Given the description of an element on the screen output the (x, y) to click on. 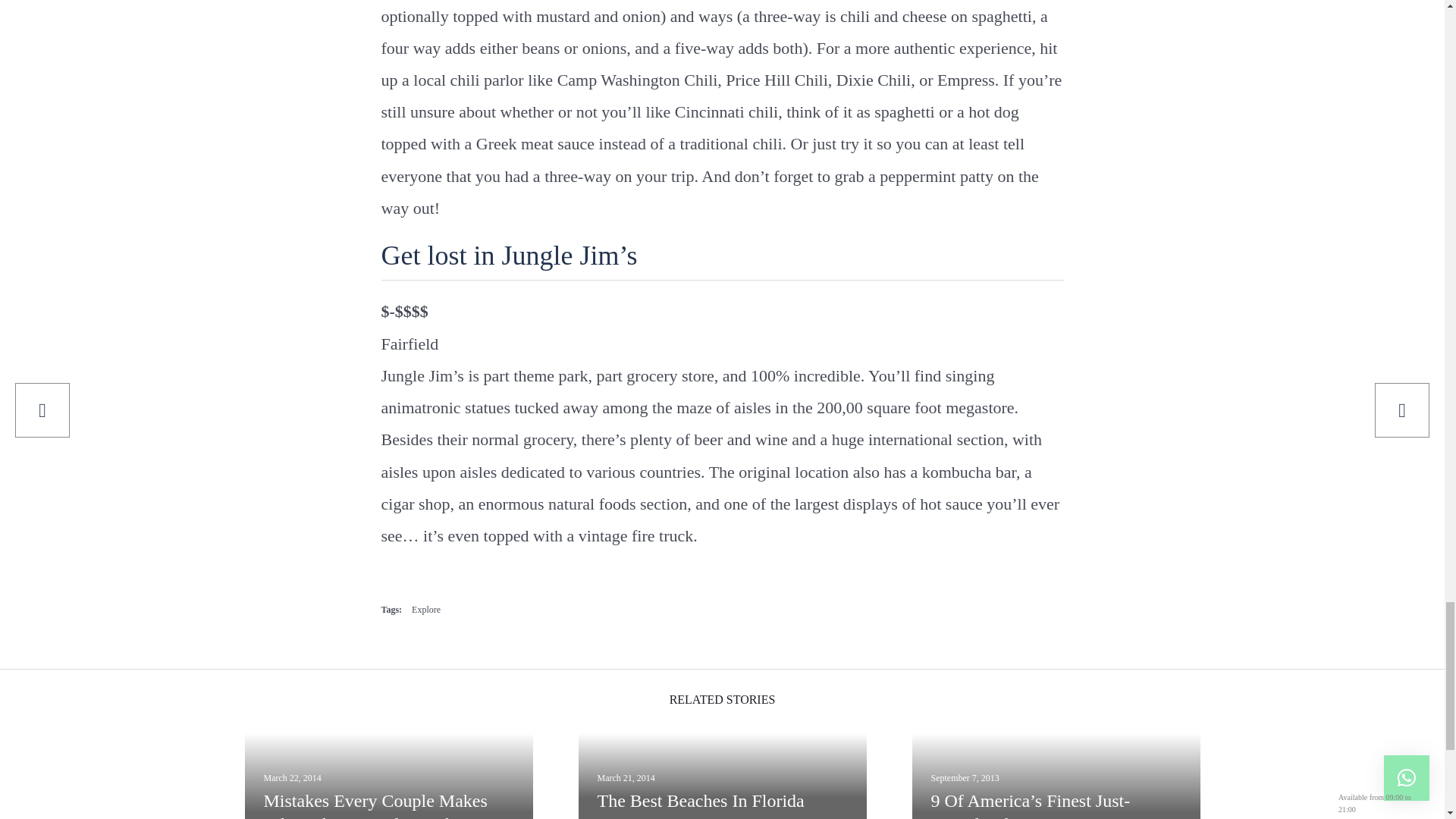
March 21, 2014 (625, 777)
Explore (426, 609)
The Best Beaches In Florida (625, 777)
Mistakes Every Couple Makes When They Travel Together (292, 777)
The Best Beaches In Florida (721, 801)
The Best Beaches In Florida (721, 801)
September 7, 2013 (964, 777)
Mistakes Every Couple Makes When They Travel Together (388, 804)
March 22, 2014 (292, 777)
Mistakes Every Couple Makes When They Travel Together (388, 804)
